Given the description of an element on the screen output the (x, y) to click on. 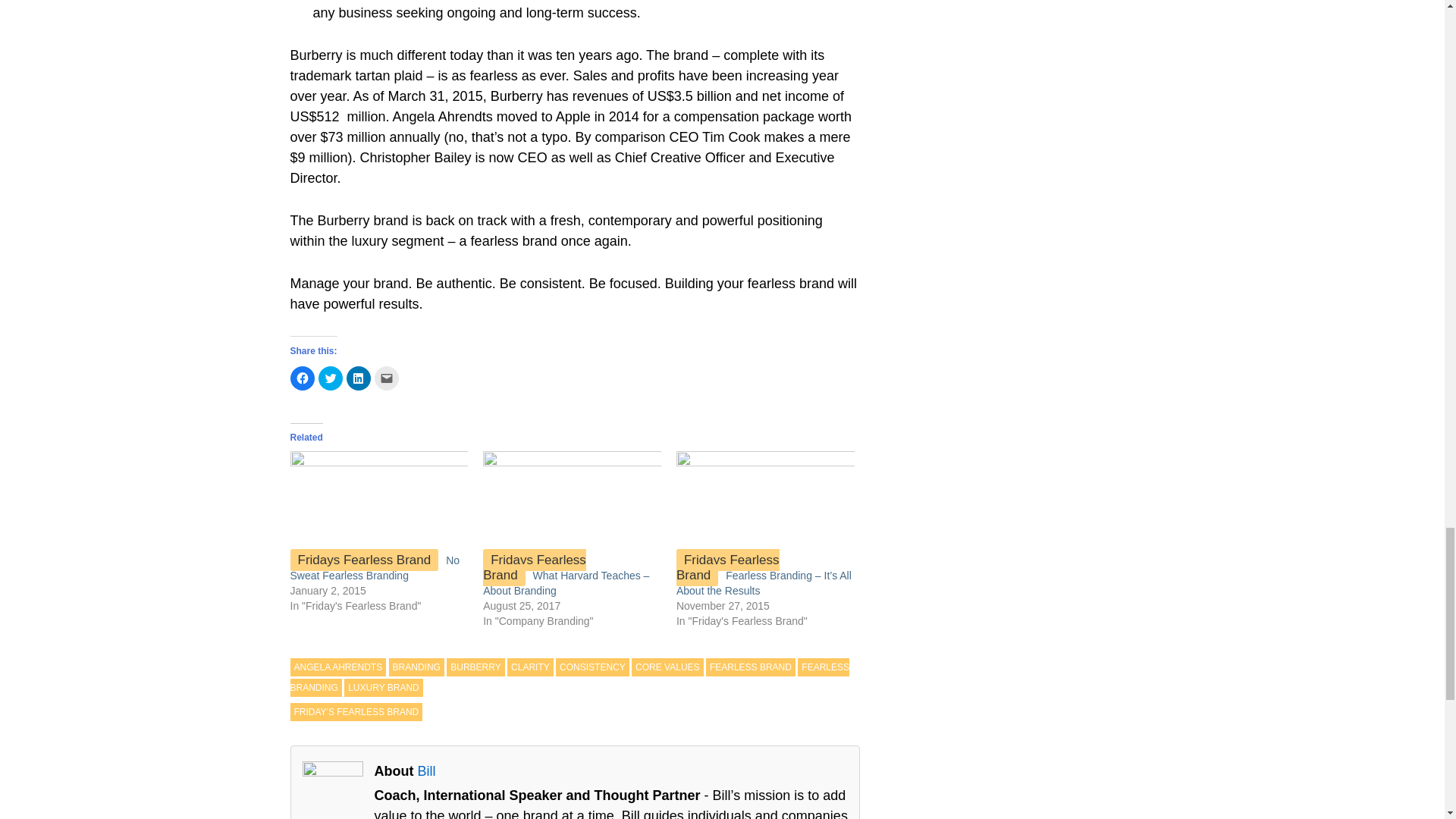
Click to share on LinkedIn (357, 378)
CLARITY (529, 667)
Click to share on Twitter (330, 378)
No Sweat Fearless Branding (378, 501)
FEARLESS BRAND (750, 667)
No Sweat Fearless Branding (374, 567)
CORE VALUES (667, 667)
ANGELA AHRENDTS (337, 667)
BURBERRY (474, 667)
BRANDING (416, 667)
